Given the description of an element on the screen output the (x, y) to click on. 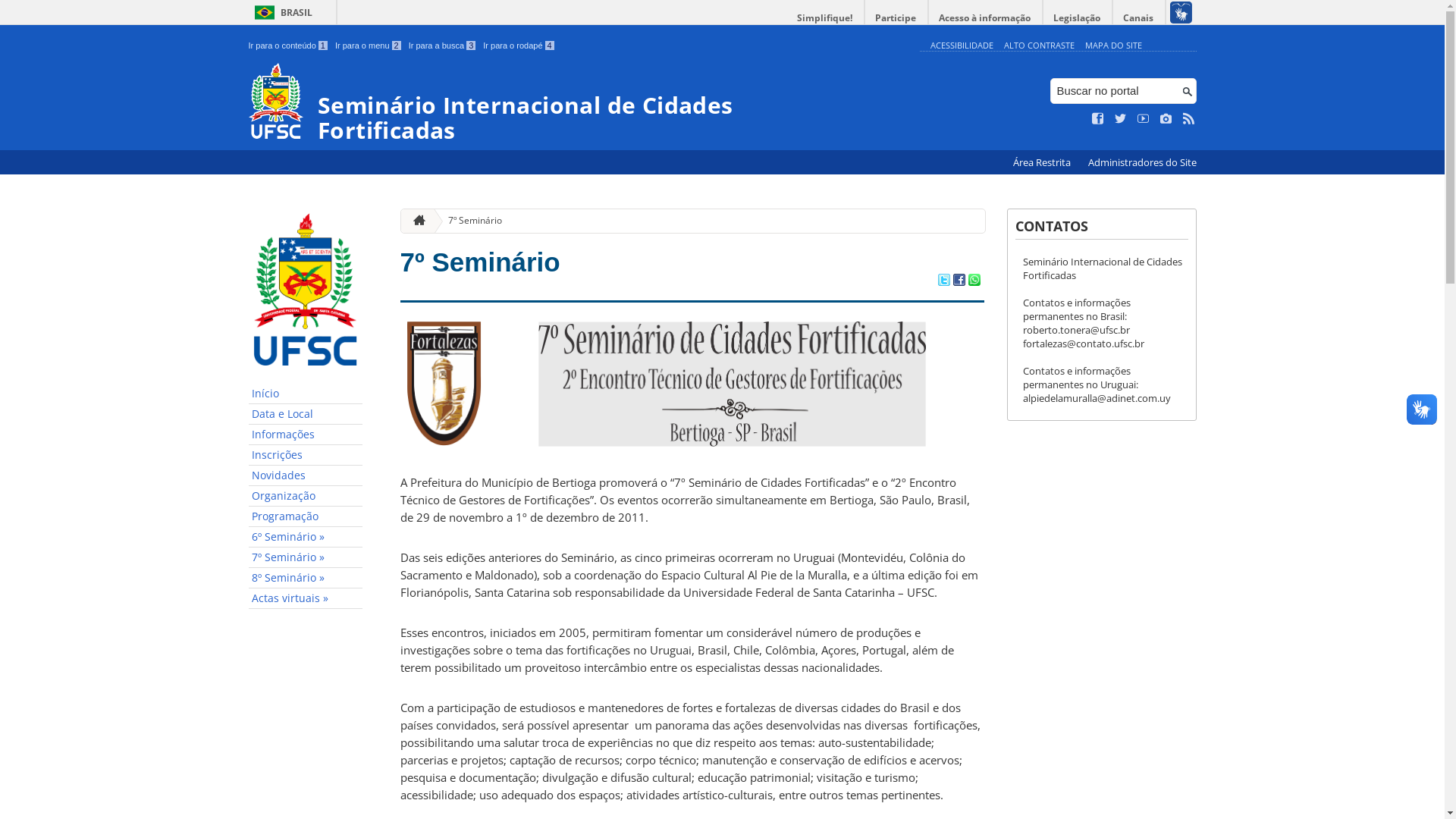
Curta no Facebook Element type: hover (1098, 118)
Simplifique! Element type: text (825, 18)
Ir para o menu 2 Element type: text (368, 45)
Administradores do Site Element type: text (1141, 162)
Compartilhar no Facebook Element type: hover (958, 280)
Data e Local Element type: text (305, 414)
Novidades Element type: text (305, 475)
Siga no Twitter Element type: hover (1120, 118)
Participe Element type: text (895, 18)
ACESSIBILIDADE Element type: text (960, 44)
Veja no Instagram Element type: hover (1166, 118)
ALTO CONTRASTE Element type: text (1039, 44)
BRASIL Element type: text (280, 12)
Compartilhar no Twitter Element type: hover (943, 280)
Compartilhar no WhatsApp Element type: hover (973, 280)
MAPA DO SITE Element type: text (1112, 44)
Ir para a busca 3 Element type: text (442, 45)
Canais Element type: text (1138, 18)
